Given the description of an element on the screen output the (x, y) to click on. 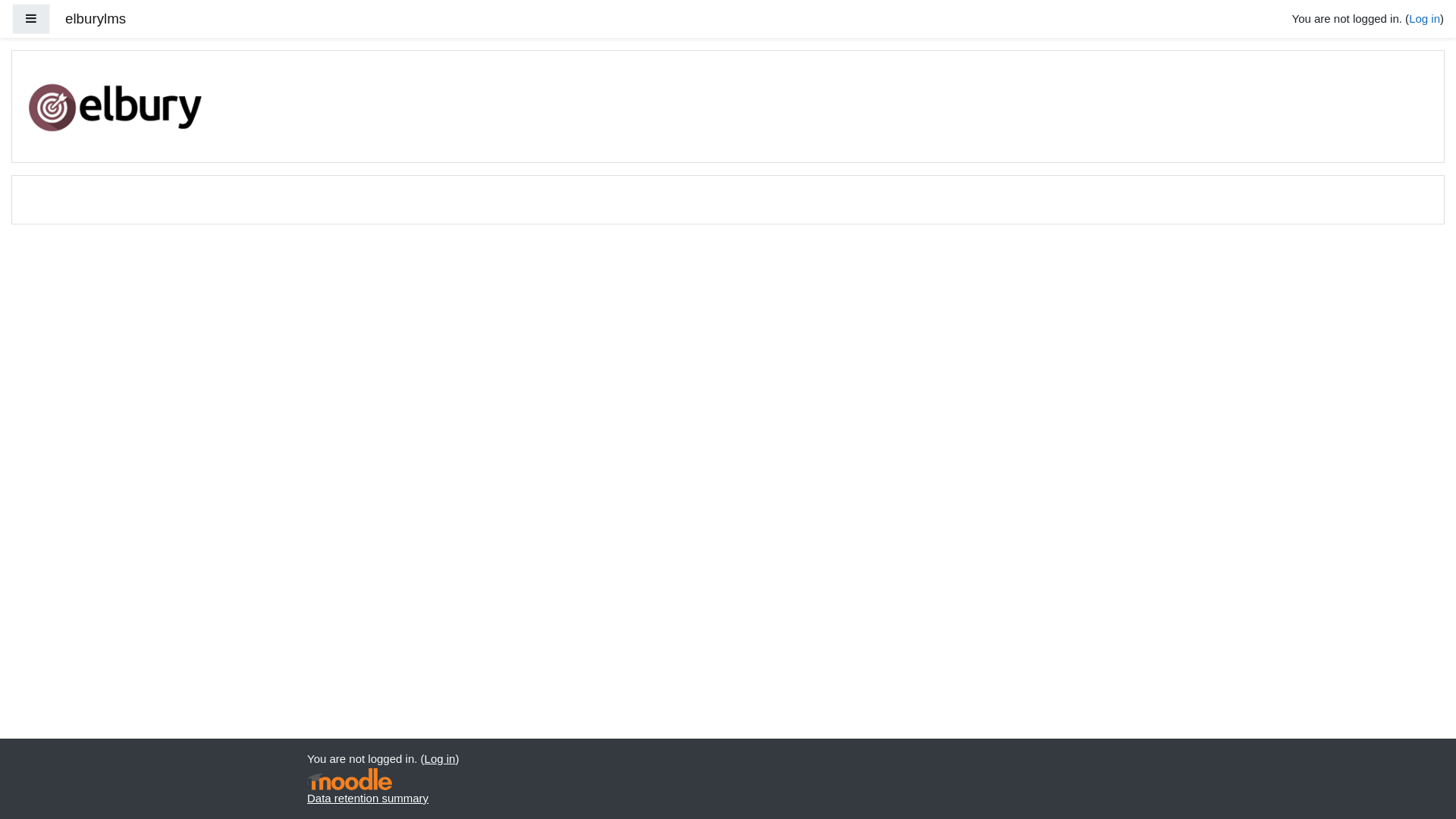
Side panel Element type: text (31, 18)
Moodle Element type: hover (349, 779)
Data retention summary Element type: text (367, 797)
elburylms Element type: text (95, 19)
Log in Element type: text (1424, 18)
Log in Element type: text (439, 758)
